Given the description of an element on the screen output the (x, y) to click on. 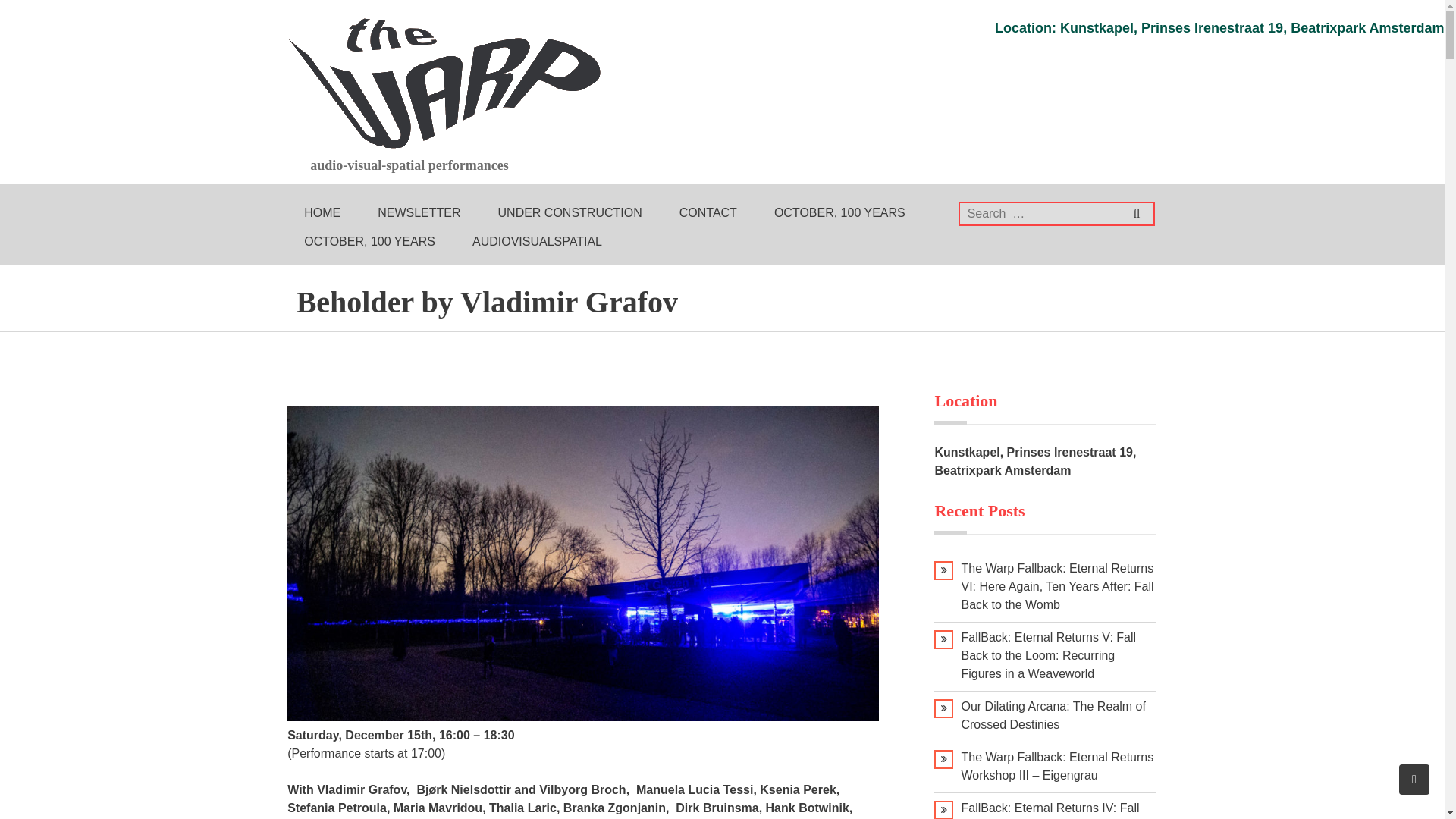
UNDER CONSTRUCTION (570, 213)
CONTACT (708, 213)
Subscribe (1397, 12)
AUDIOVISUALSPATIAL (536, 241)
NEWSLETTER (419, 213)
OCTOBER, 100 YEARS (839, 213)
HOME (321, 213)
OCTOBER, 100 YEARS (368, 241)
